Given the description of an element on the screen output the (x, y) to click on. 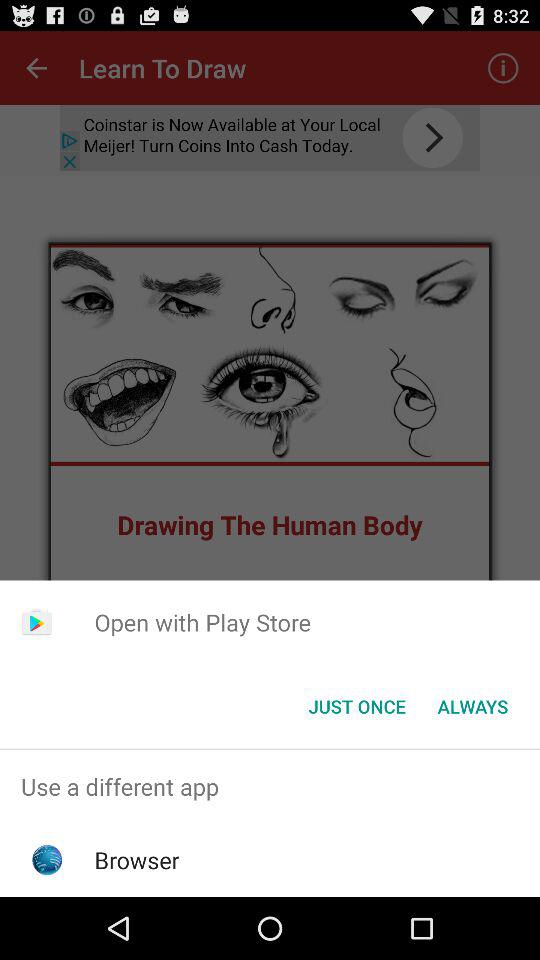
turn on item below the open with play icon (356, 706)
